Given the description of an element on the screen output the (x, y) to click on. 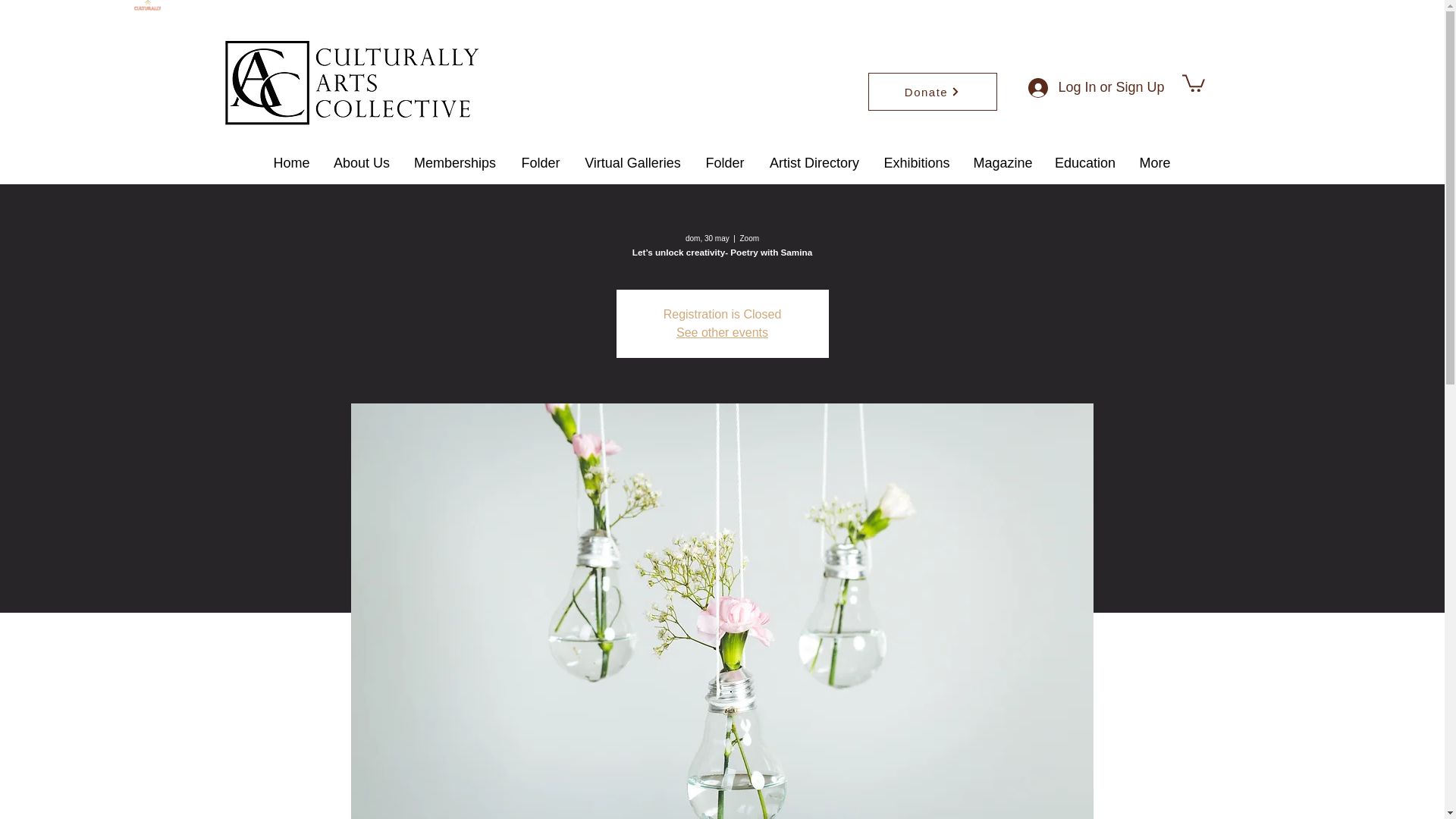
Artist Directory (813, 163)
Home (290, 163)
Education (1084, 163)
Exhibitions (917, 163)
See other events (722, 332)
Log In or Sign Up (1092, 87)
Donate (931, 91)
Memberships (454, 163)
About Us (361, 163)
Magazine (1001, 163)
